Given the description of an element on the screen output the (x, y) to click on. 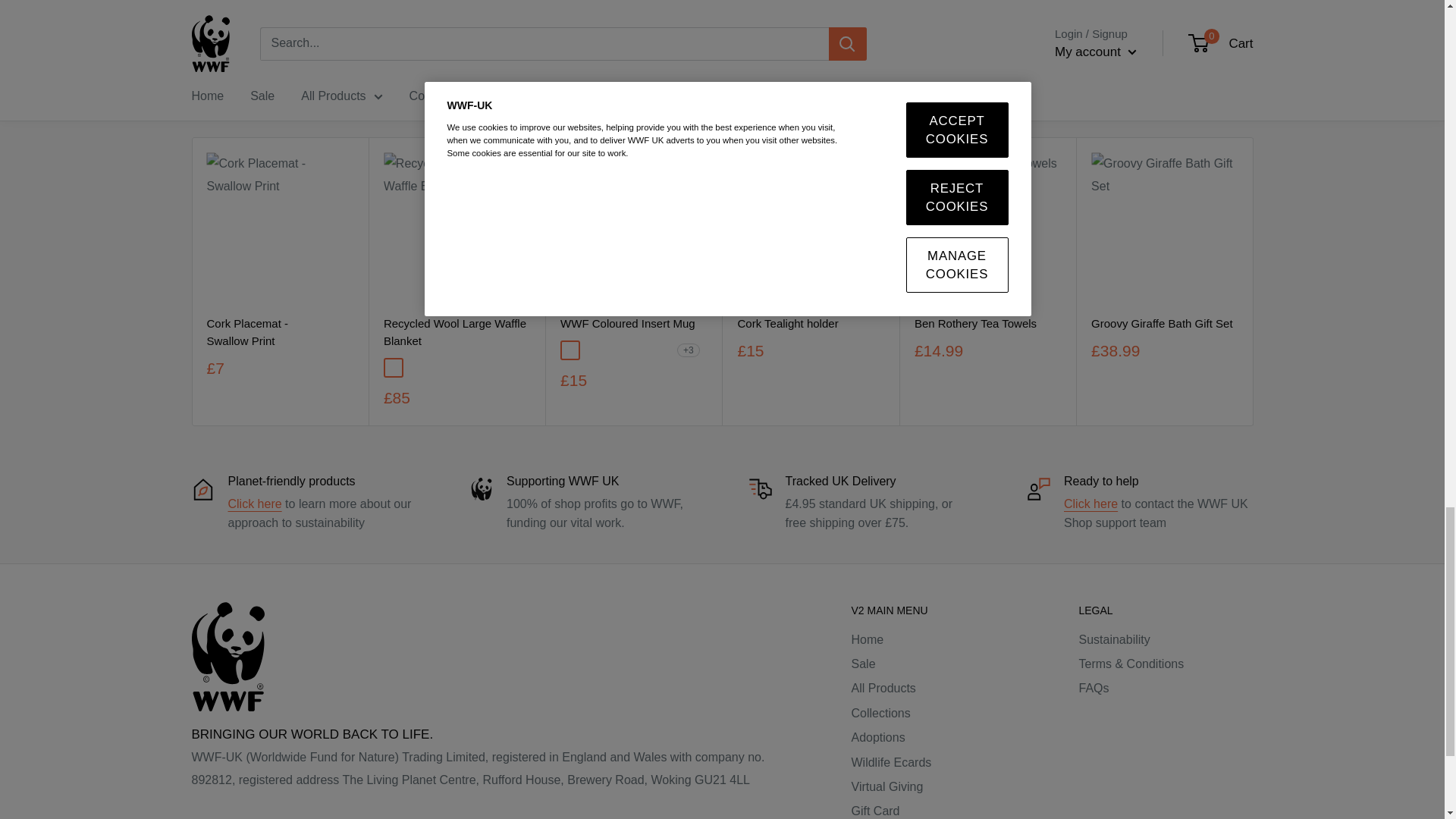
A Sustainable Product Range (254, 503)
Camel (393, 367)
Cobalt Block Check (438, 367)
Red (638, 350)
Sage (416, 367)
Green (660, 350)
Orange (615, 350)
Pink (592, 350)
Black (569, 350)
